Given the description of an element on the screen output the (x, y) to click on. 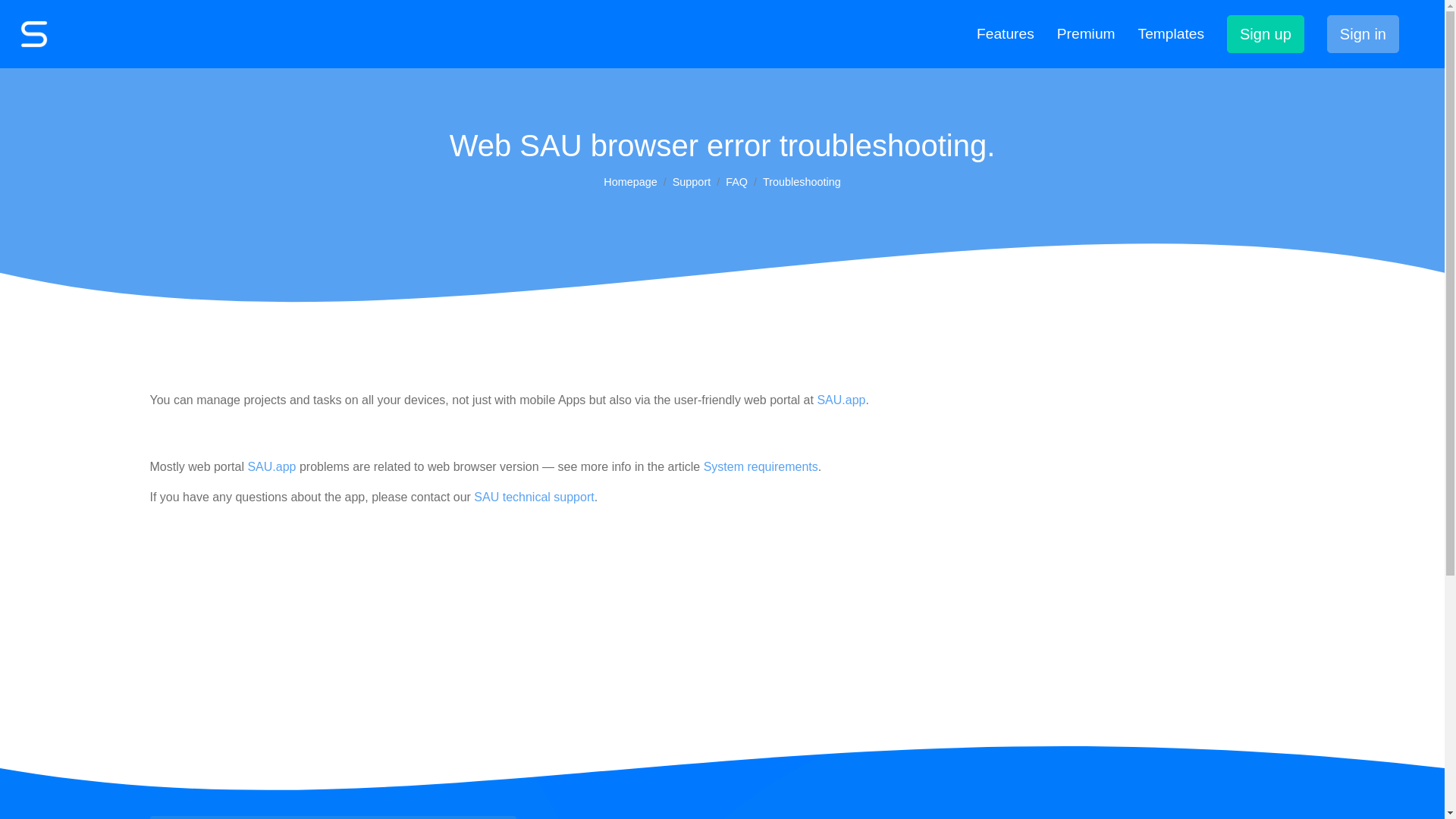
SAU.app (271, 466)
Support (691, 182)
SAU.app System requirements (760, 466)
System requirements (760, 466)
SAU.app (271, 466)
Premium (1086, 34)
FAQ (736, 182)
Templates (1171, 34)
English (333, 817)
Features (1004, 34)
SAU.app (840, 399)
SAU.app (840, 399)
Sign in (1362, 34)
Troubleshooting (801, 182)
Sign up (1265, 34)
